Given the description of an element on the screen output the (x, y) to click on. 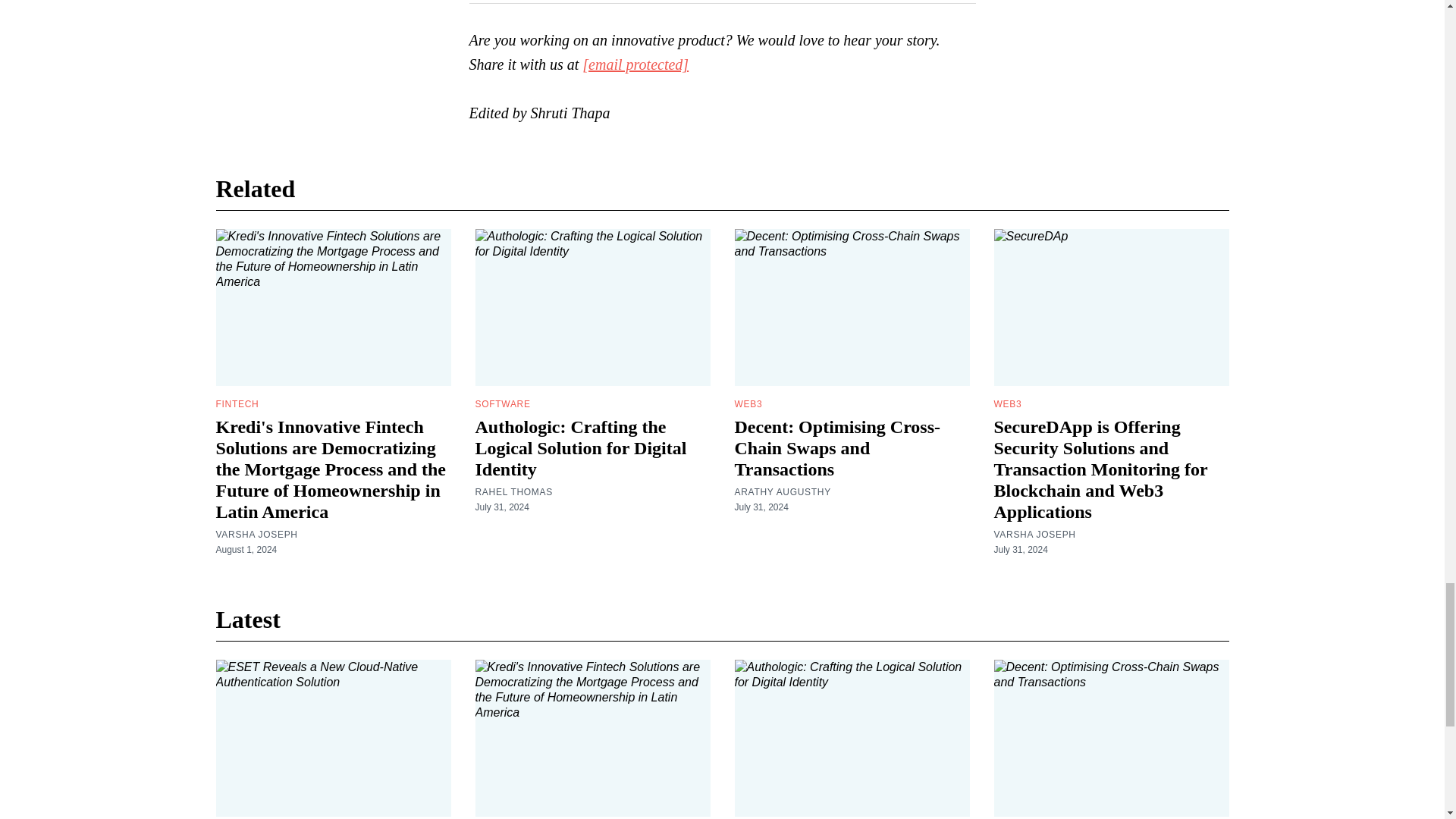
WEB3 (747, 403)
FINTECH (237, 403)
Decent: Optimising Cross-Chain Swaps and Transactions (836, 447)
SOFTWARE (501, 403)
RAHEL THOMAS (512, 491)
VARSHA JOSEPH (256, 534)
ARATHY AUGUSTHY (781, 491)
